Given the description of an element on the screen output the (x, y) to click on. 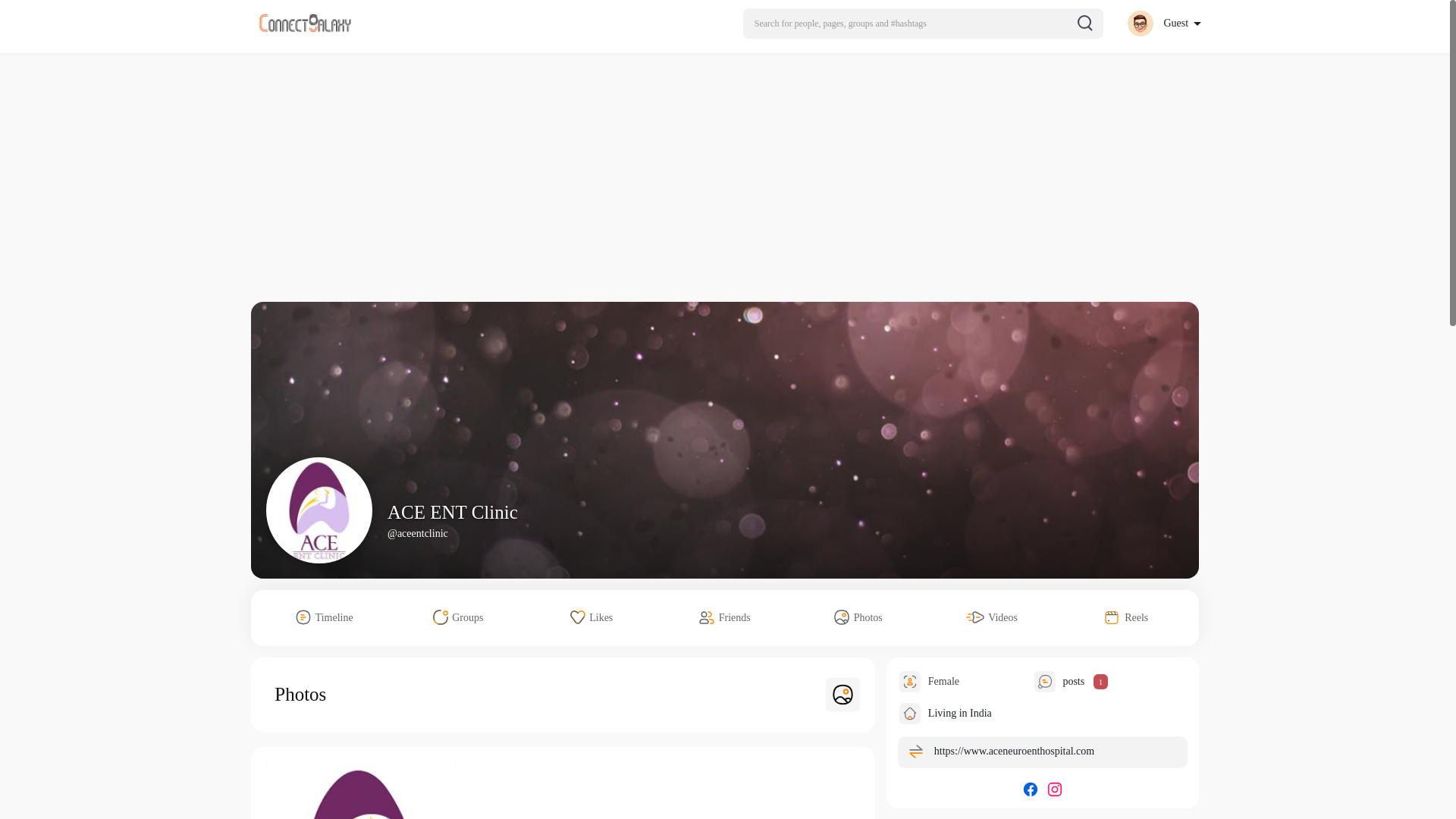
Groups (457, 617)
Timeline (324, 617)
Videos (991, 617)
Guest (1163, 23)
Friends (725, 617)
Photos (857, 617)
Likes (591, 617)
ACE ENT Clinic (452, 512)
Reels (1125, 617)
